Given the description of an element on the screen output the (x, y) to click on. 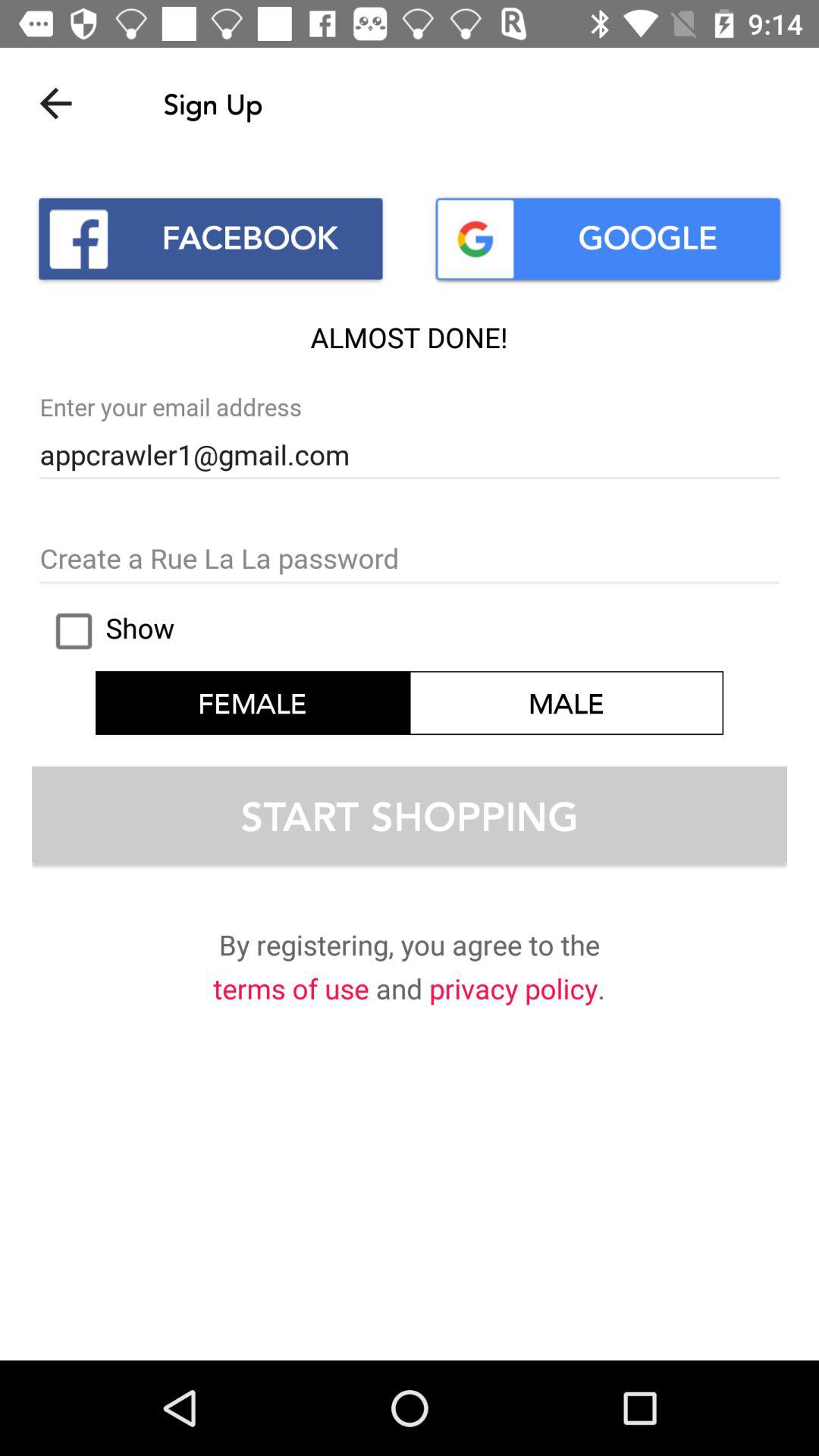
go to create password option (409, 559)
